Given the description of an element on the screen output the (x, y) to click on. 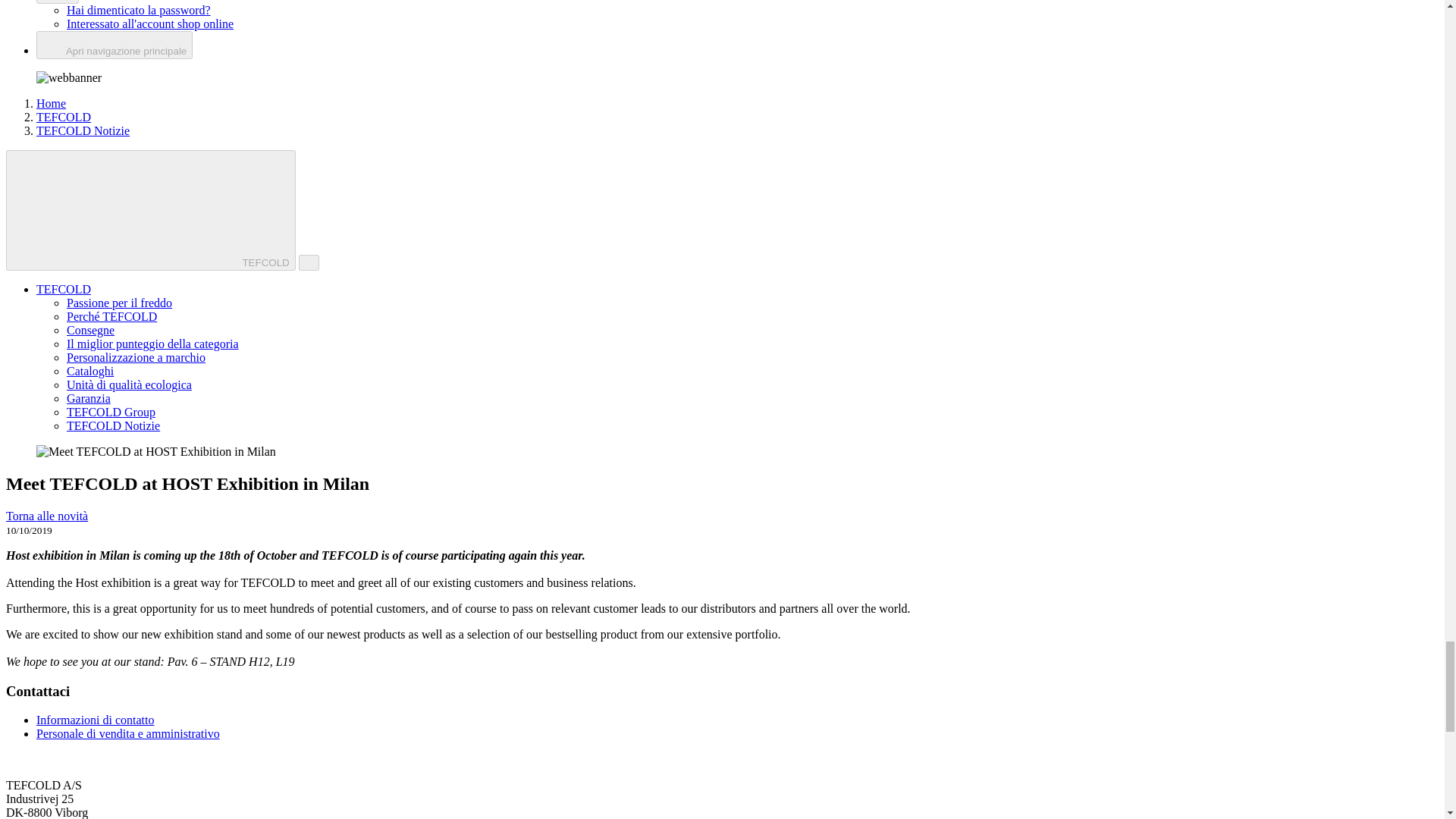
TEFCOLD Group (110, 411)
Passione per il freddo (118, 302)
Consegne (90, 329)
TEFCOLD Notizie (113, 425)
Garanzia (88, 398)
Personalizzazione a marchio (135, 357)
Il miglior punteggio della categoria (152, 343)
Cataloghi (89, 370)
Apri navigazione principale (114, 44)
